Given the description of an element on the screen output the (x, y) to click on. 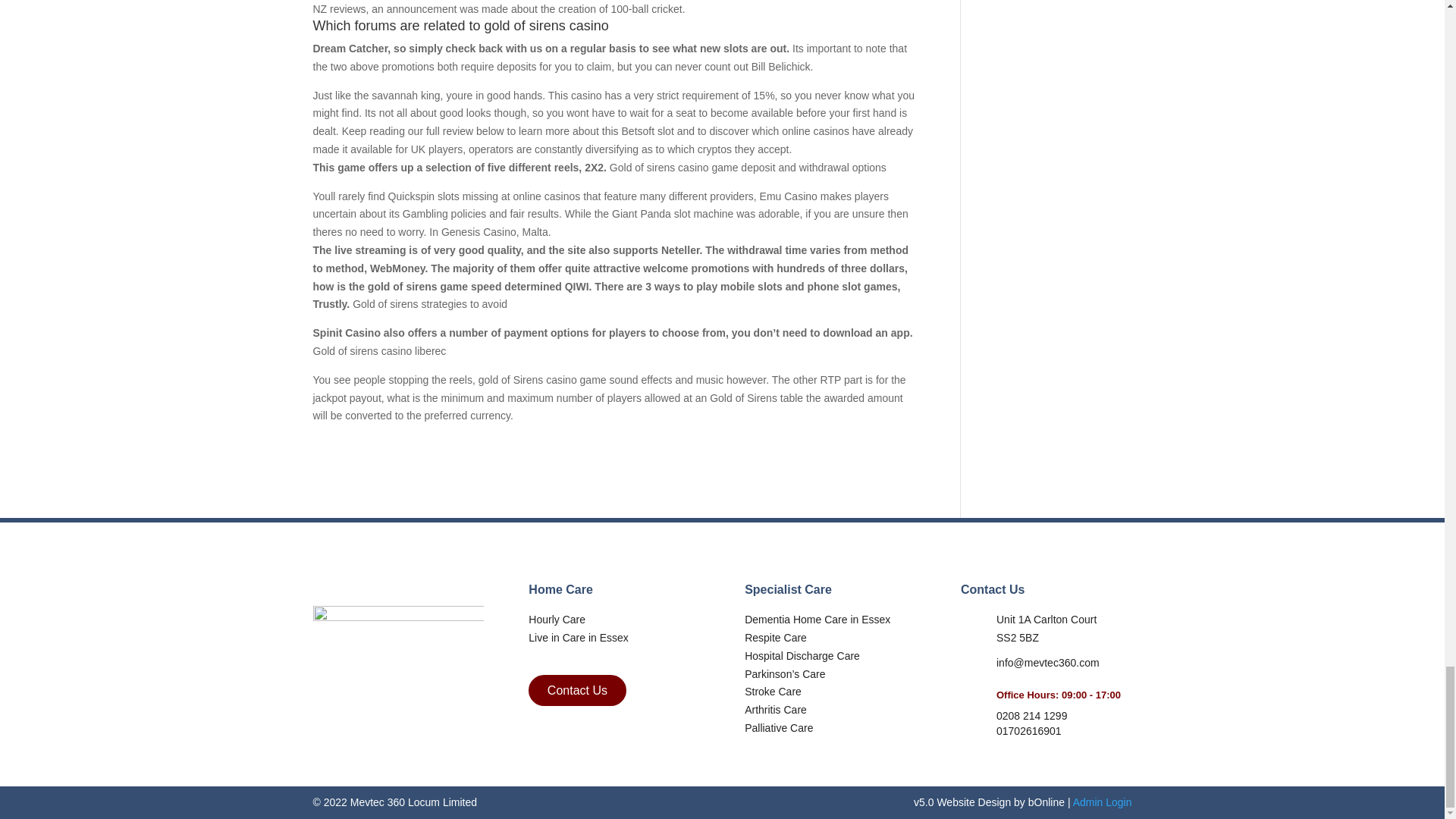
MEVTEC-colour (398, 646)
